Given the description of an element on the screen output the (x, y) to click on. 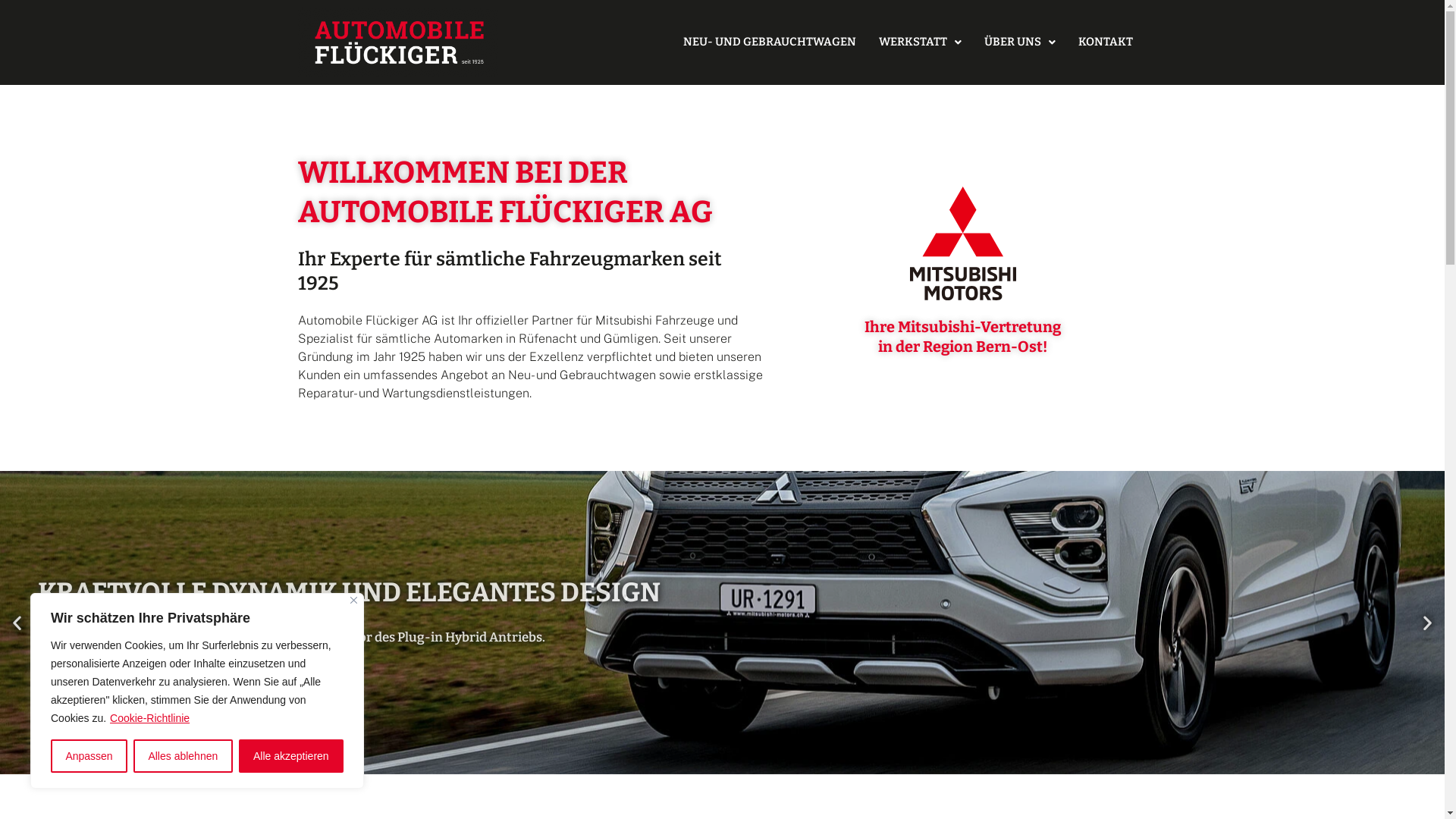
Anpassen Element type: text (88, 755)
KONTAKT Element type: text (1105, 41)
Alles ablehnen Element type: text (182, 755)
WERKSTATT Element type: text (919, 41)
NEU- UND GEBRAUCHTWAGEN Element type: text (769, 41)
Cookie-Richtlinie Element type: text (149, 717)
Alle akzeptieren Element type: text (290, 755)
